Given the description of an element on the screen output the (x, y) to click on. 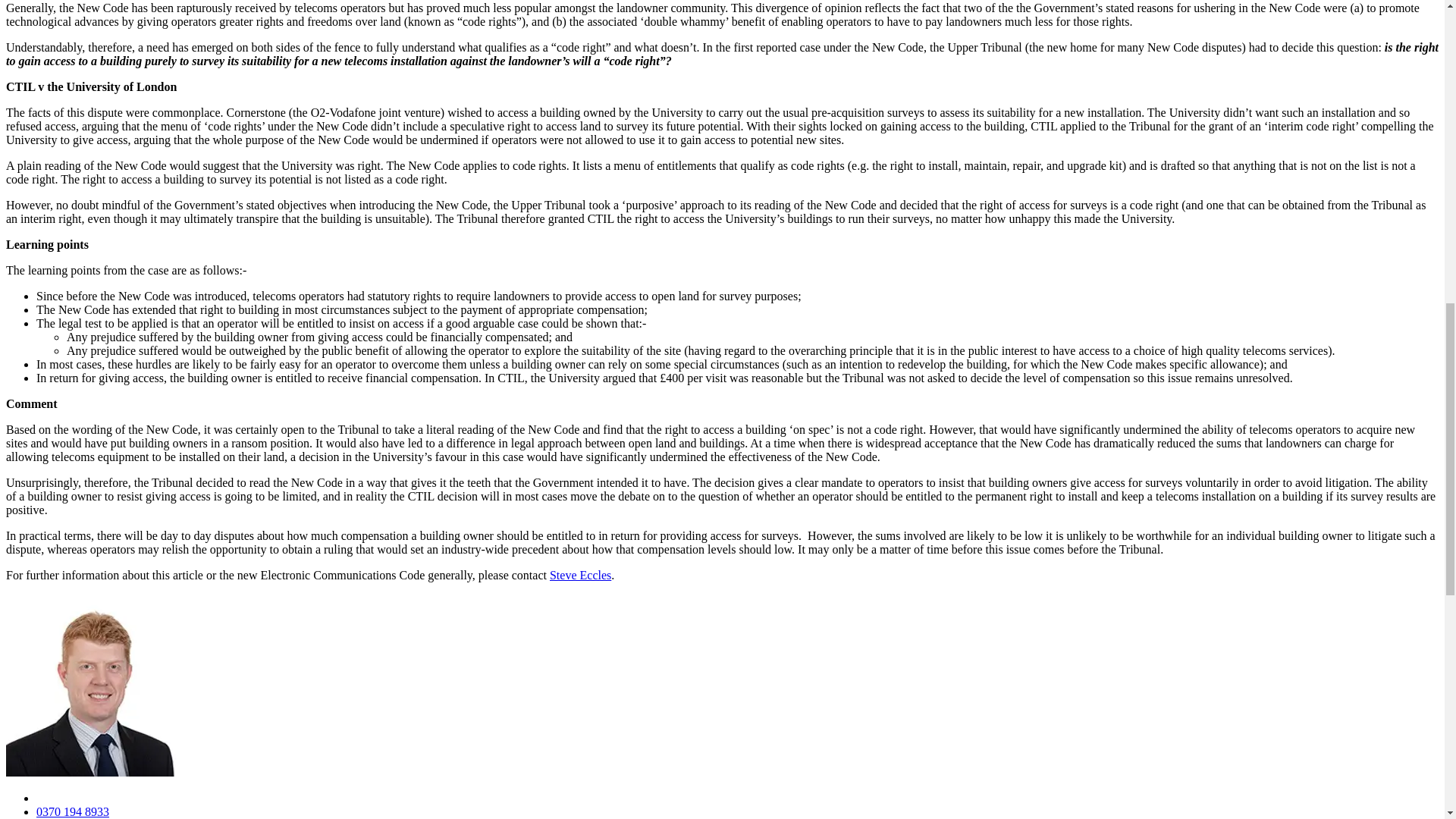
0370 194 8933 (72, 811)
Steve Eccles (580, 574)
